Given the description of an element on the screen output the (x, y) to click on. 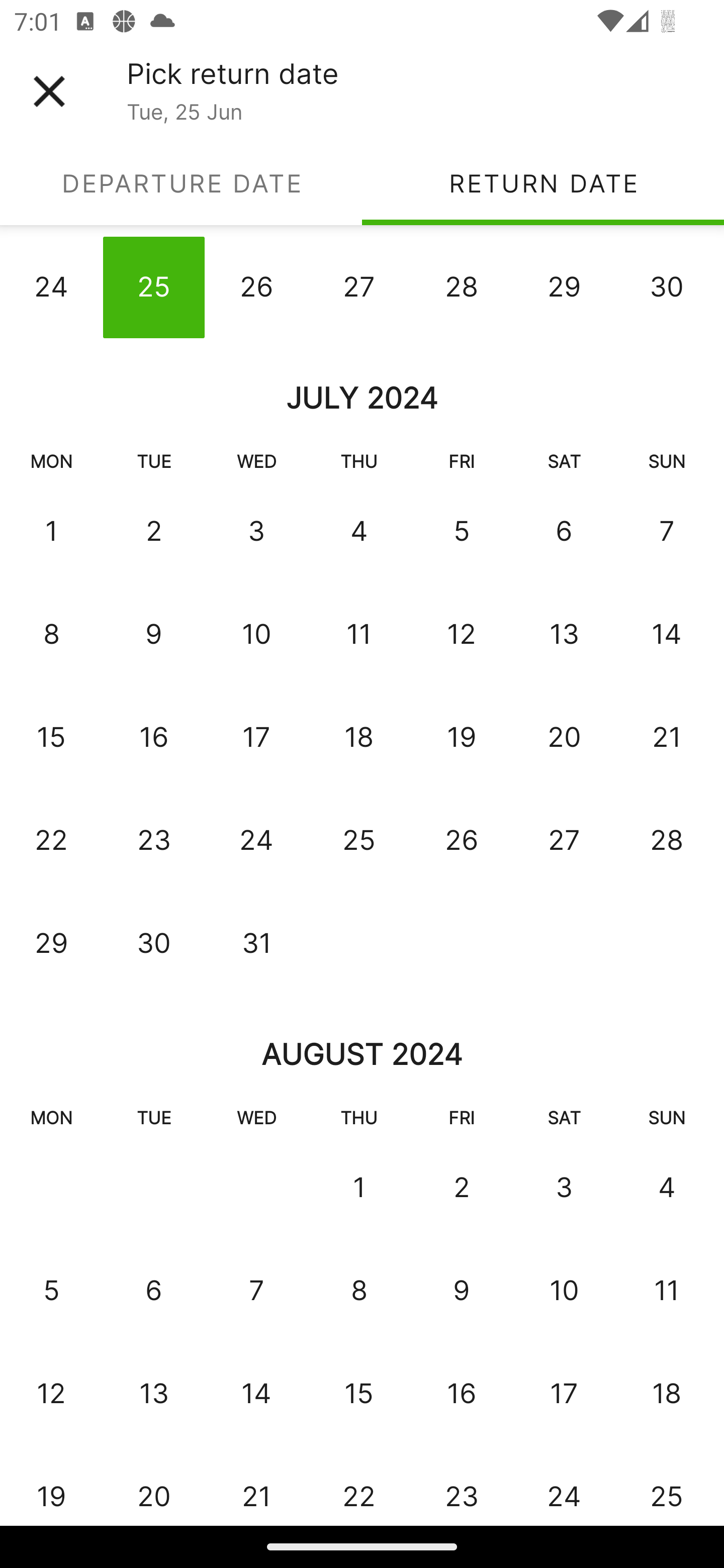
Departure Date DEPARTURE DATE (181, 183)
